Given the description of an element on the screen output the (x, y) to click on. 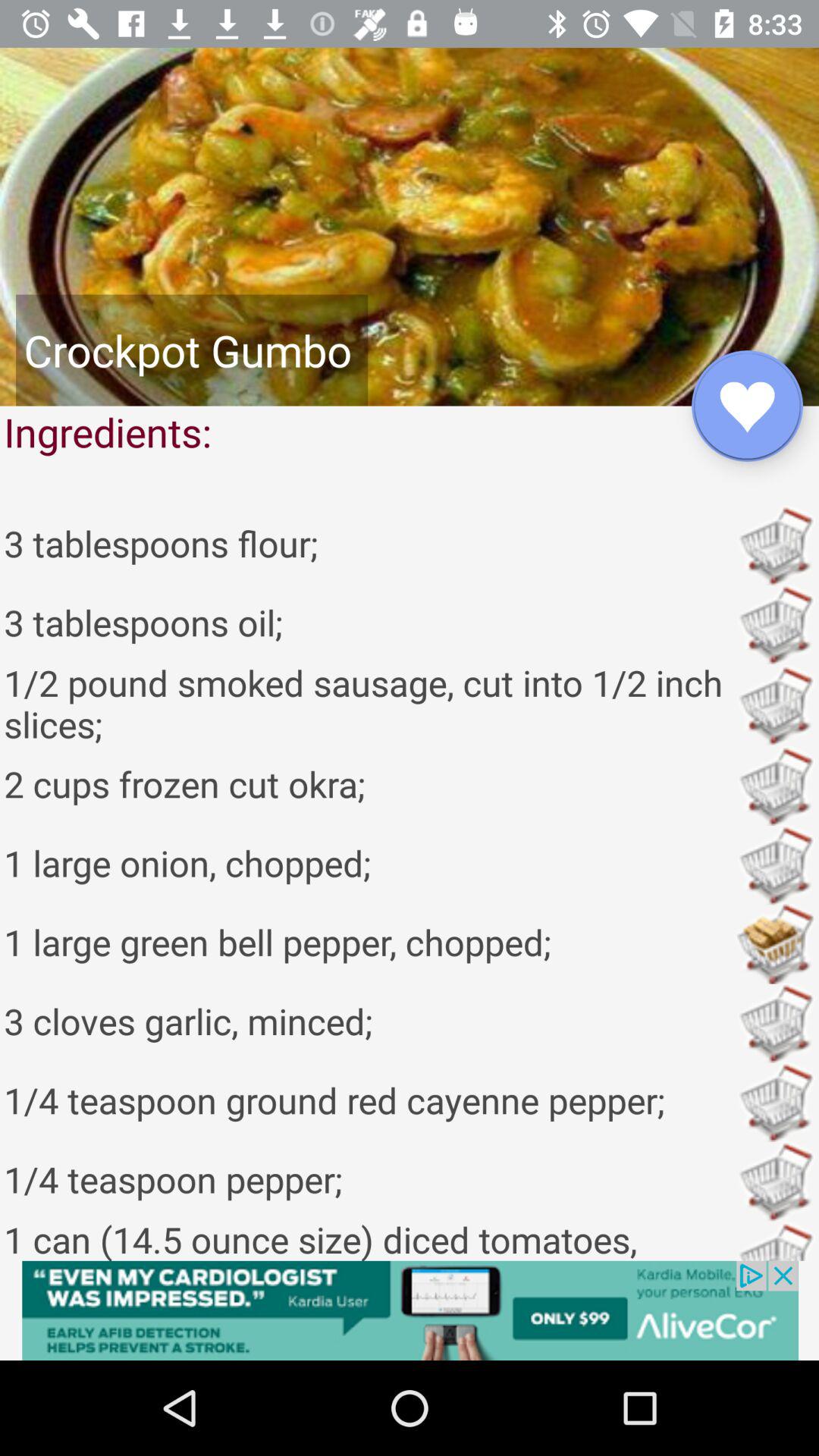
add to favorites (747, 405)
